Given the description of an element on the screen output the (x, y) to click on. 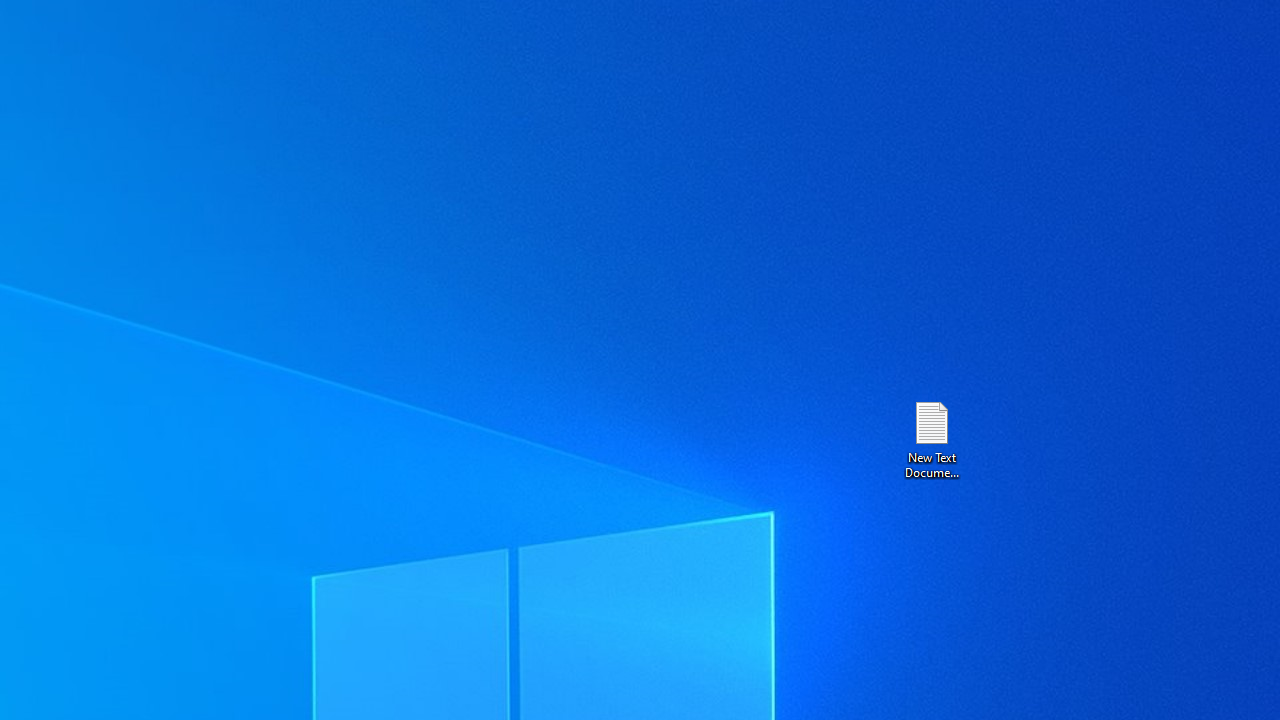
New Text Document (2) (931, 438)
